Given the description of an element on the screen output the (x, y) to click on. 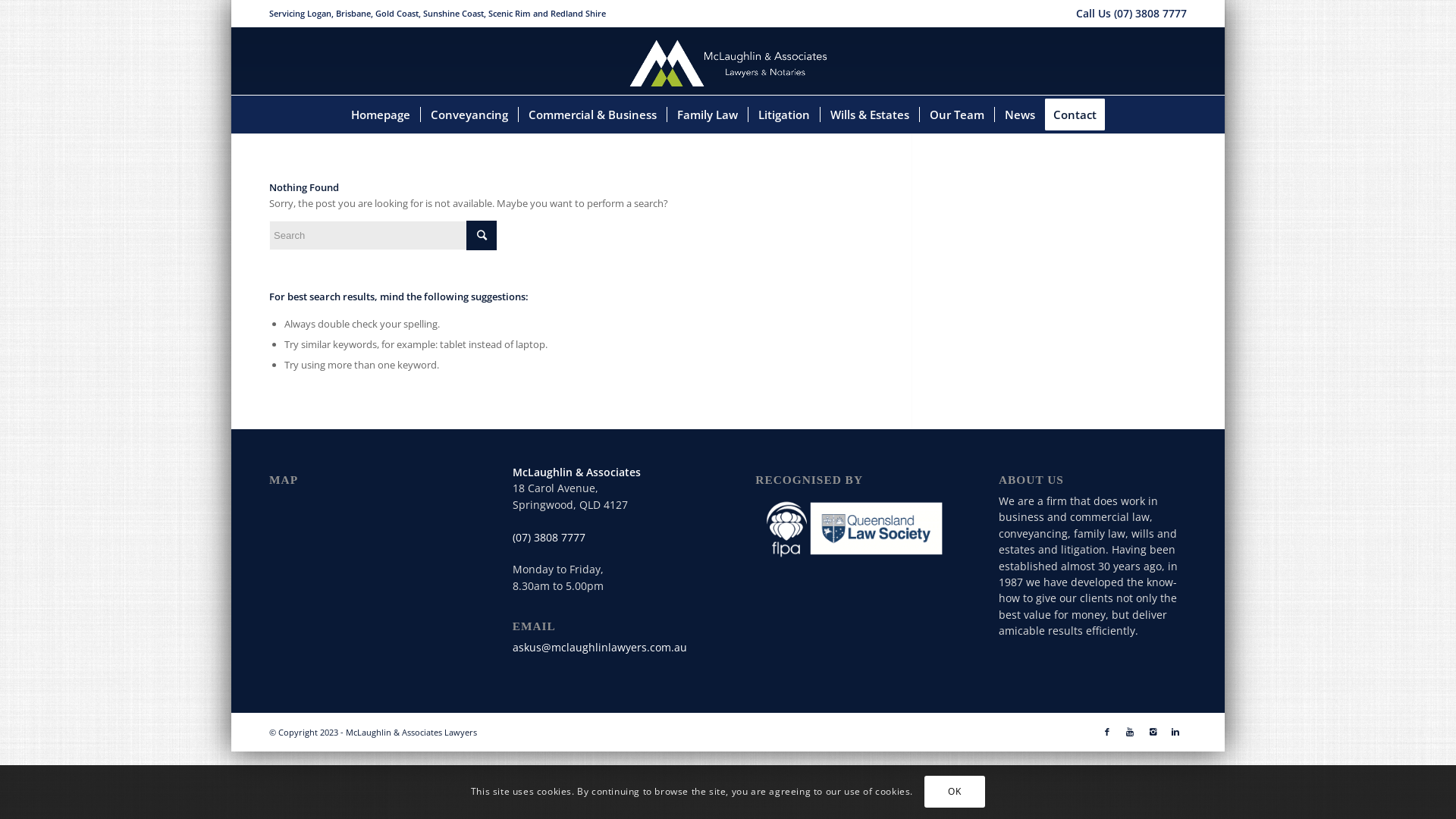
(07) 3808 7777 Element type: text (548, 537)
OK Element type: text (954, 791)
Instagram Element type: hover (1152, 731)
Homepage Element type: text (380, 114)
Contact Element type: text (1079, 114)
Our Team Element type: text (956, 114)
Conveyancing Element type: text (468, 114)
Commercial & Business Element type: text (591, 114)
Litigation Element type: text (783, 114)
(07) 3808 7777 Element type: text (1149, 13)
News Element type: text (1019, 114)
Youtube Element type: hover (1129, 731)
Family Law Element type: text (706, 114)
Linkedin Element type: hover (1175, 731)
Wills & Estates Element type: text (869, 114)
Facebook Element type: hover (1106, 731)
askus@mclaughlinlawyers.com.au Element type: text (599, 647)
